Given the description of an element on the screen output the (x, y) to click on. 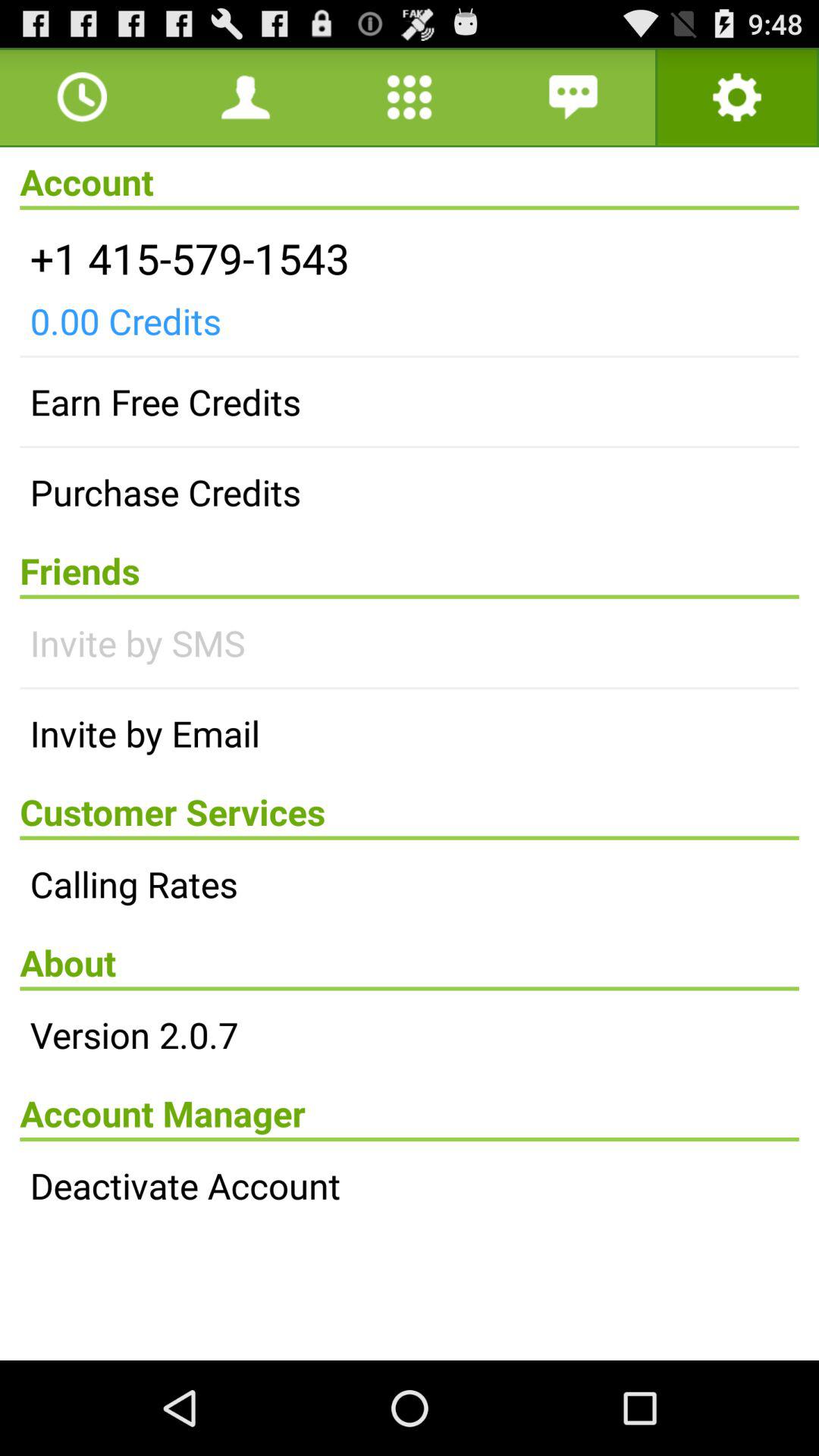
press the calling rates icon (409, 884)
